Given the description of an element on the screen output the (x, y) to click on. 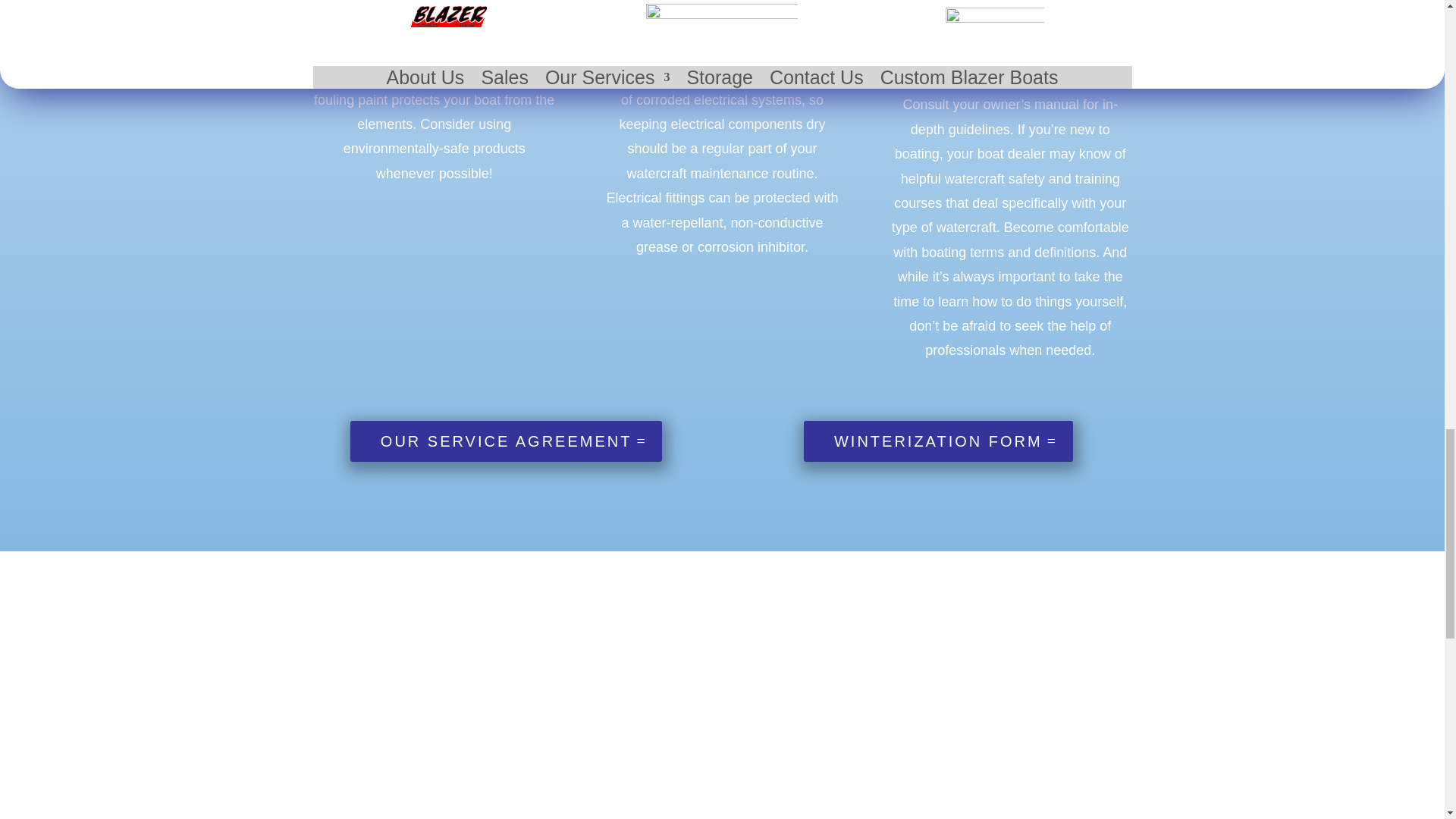
OUR SERVICE AGREEMENT (506, 440)
WINTERIZATION FORM (938, 440)
